Given the description of an element on the screen output the (x, y) to click on. 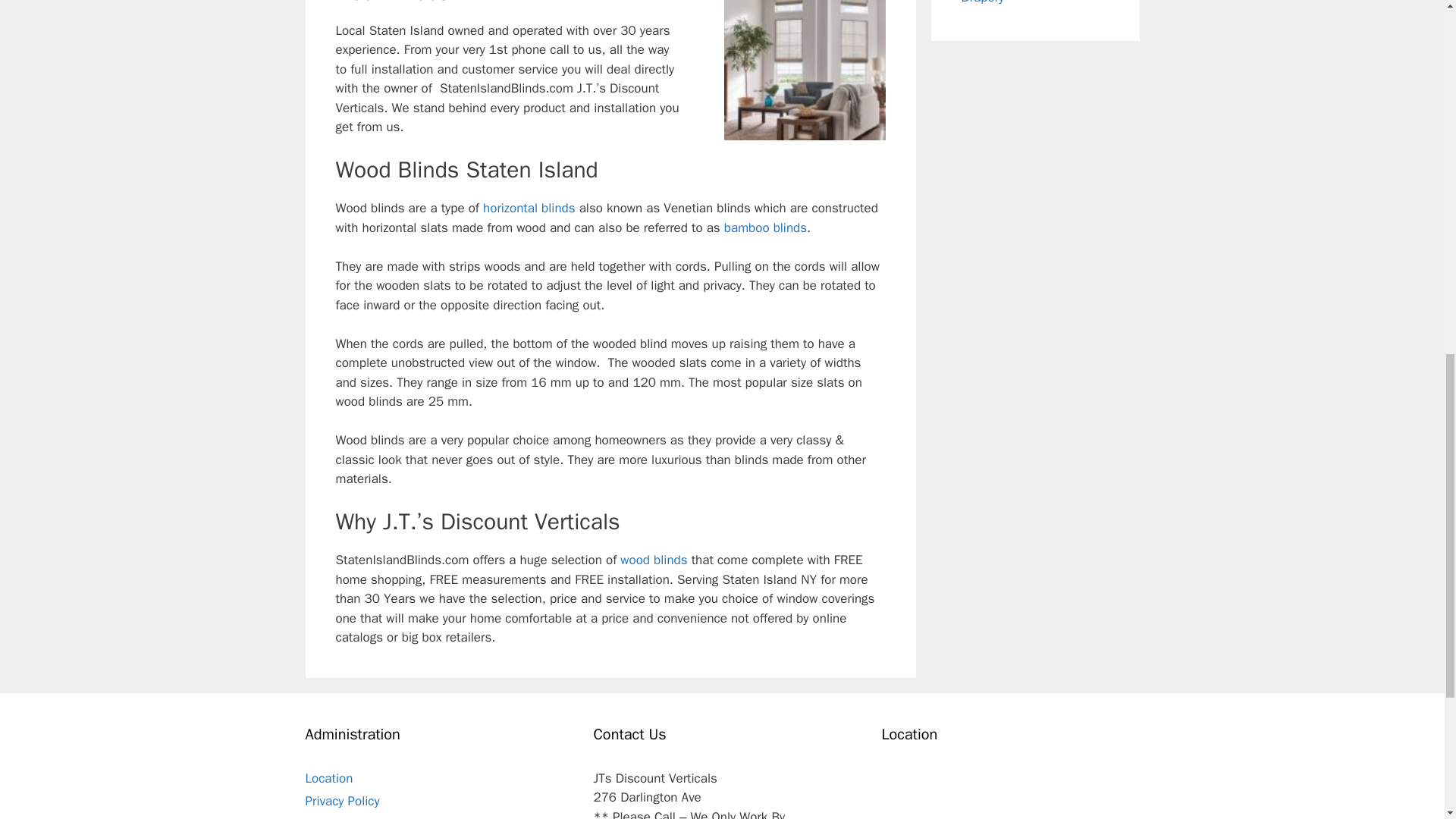
wood blinds (653, 560)
horizontal blinds (529, 207)
bamboo blinds (764, 227)
